Given the description of an element on the screen output the (x, y) to click on. 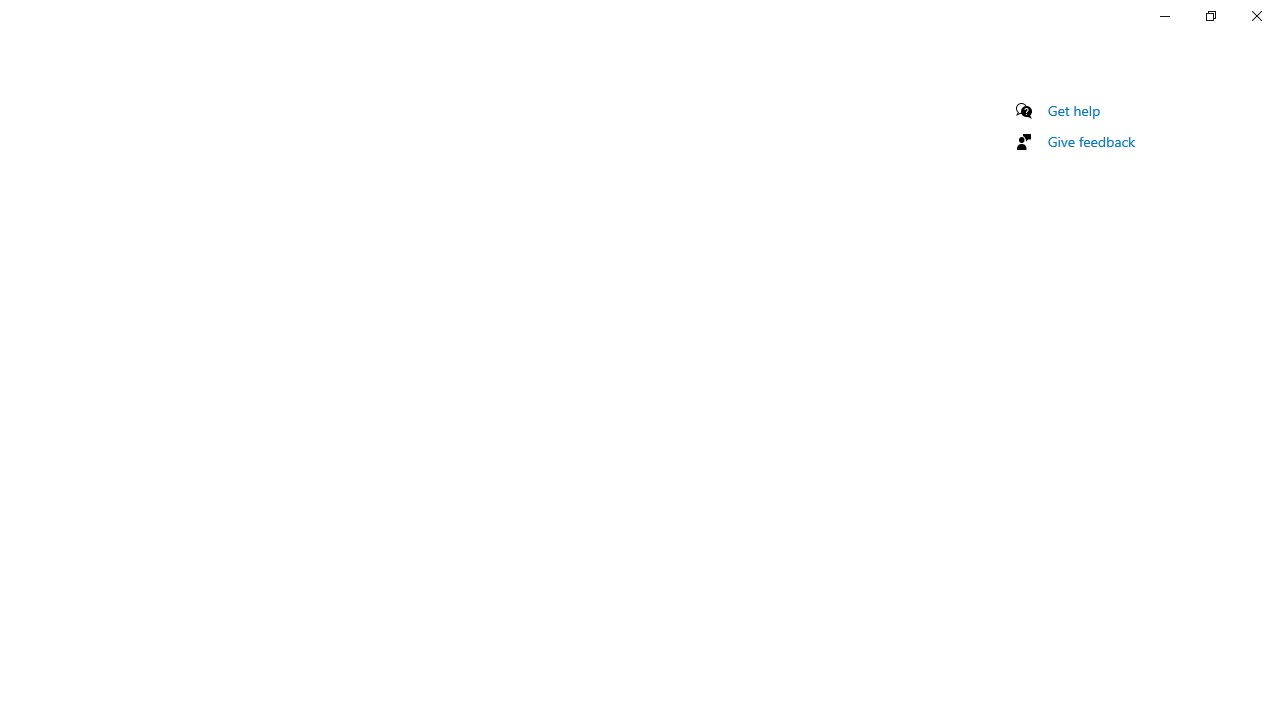
Restore Settings (1210, 15)
Get help (1074, 110)
Minimize Settings (1164, 15)
Close Settings (1256, 15)
Give feedback (1091, 141)
